Given the description of an element on the screen output the (x, y) to click on. 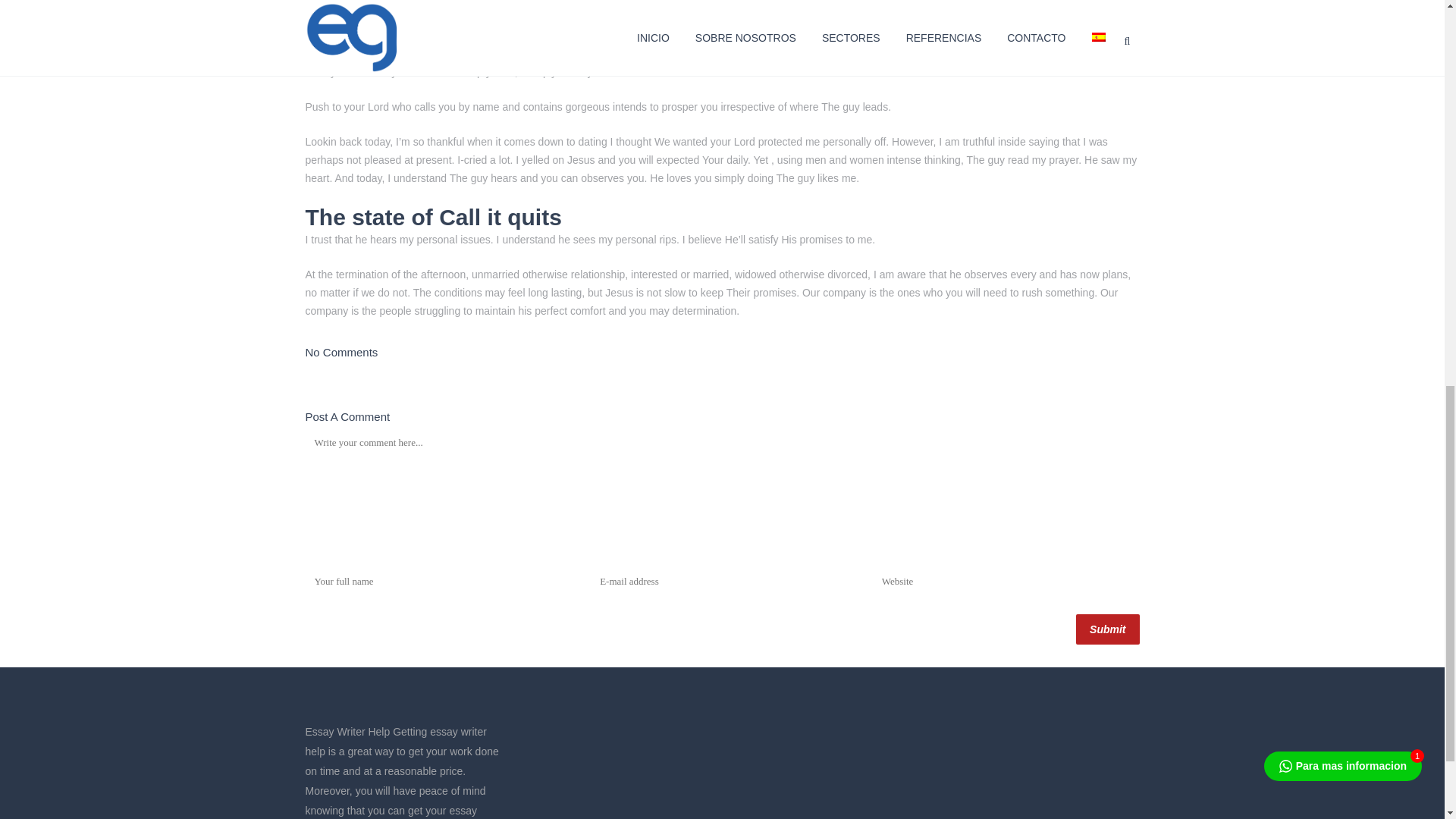
Submit (1106, 629)
